Given the description of an element on the screen output the (x, y) to click on. 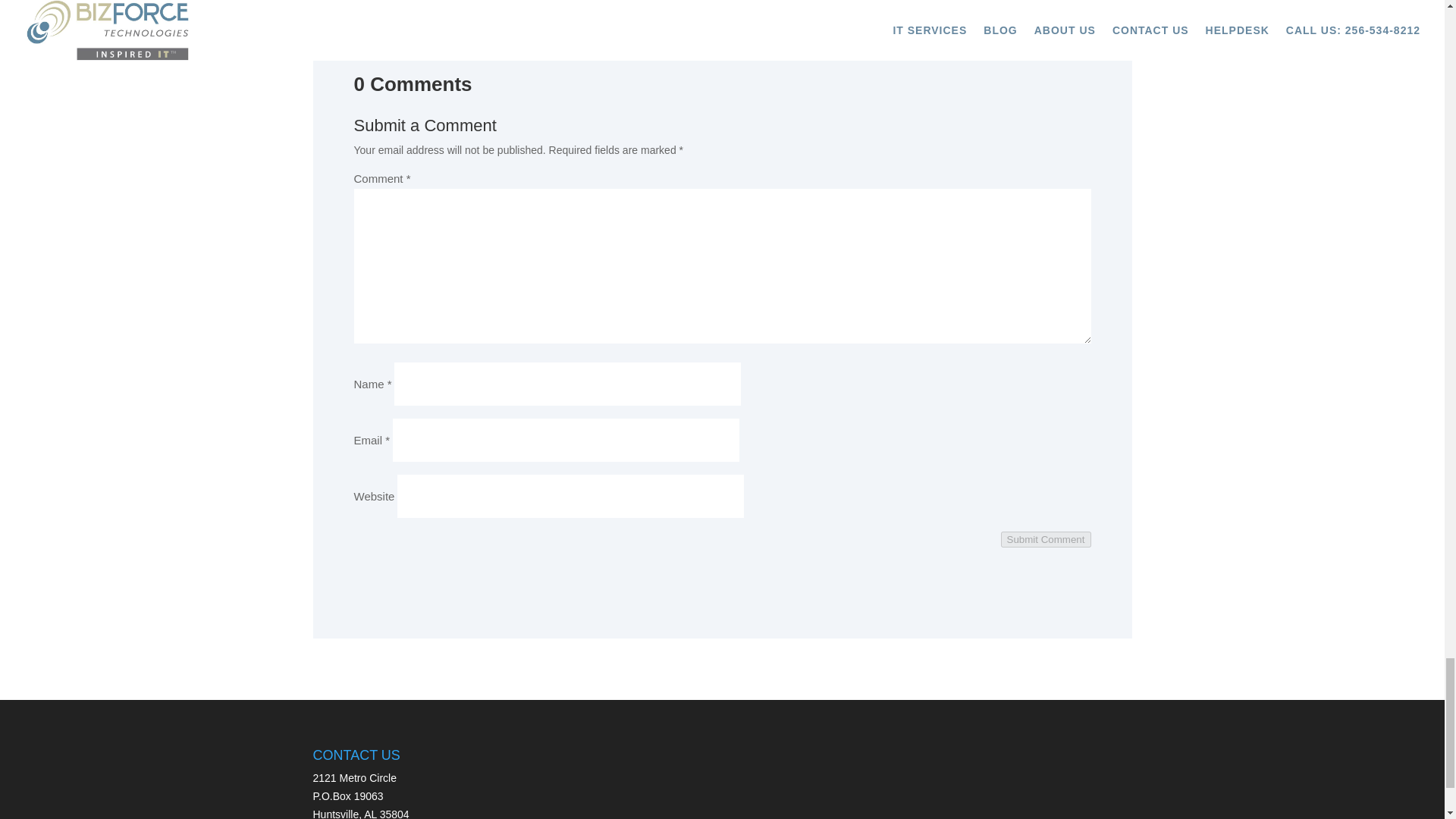
Submit Comment (1045, 539)
